Given the description of an element on the screen output the (x, y) to click on. 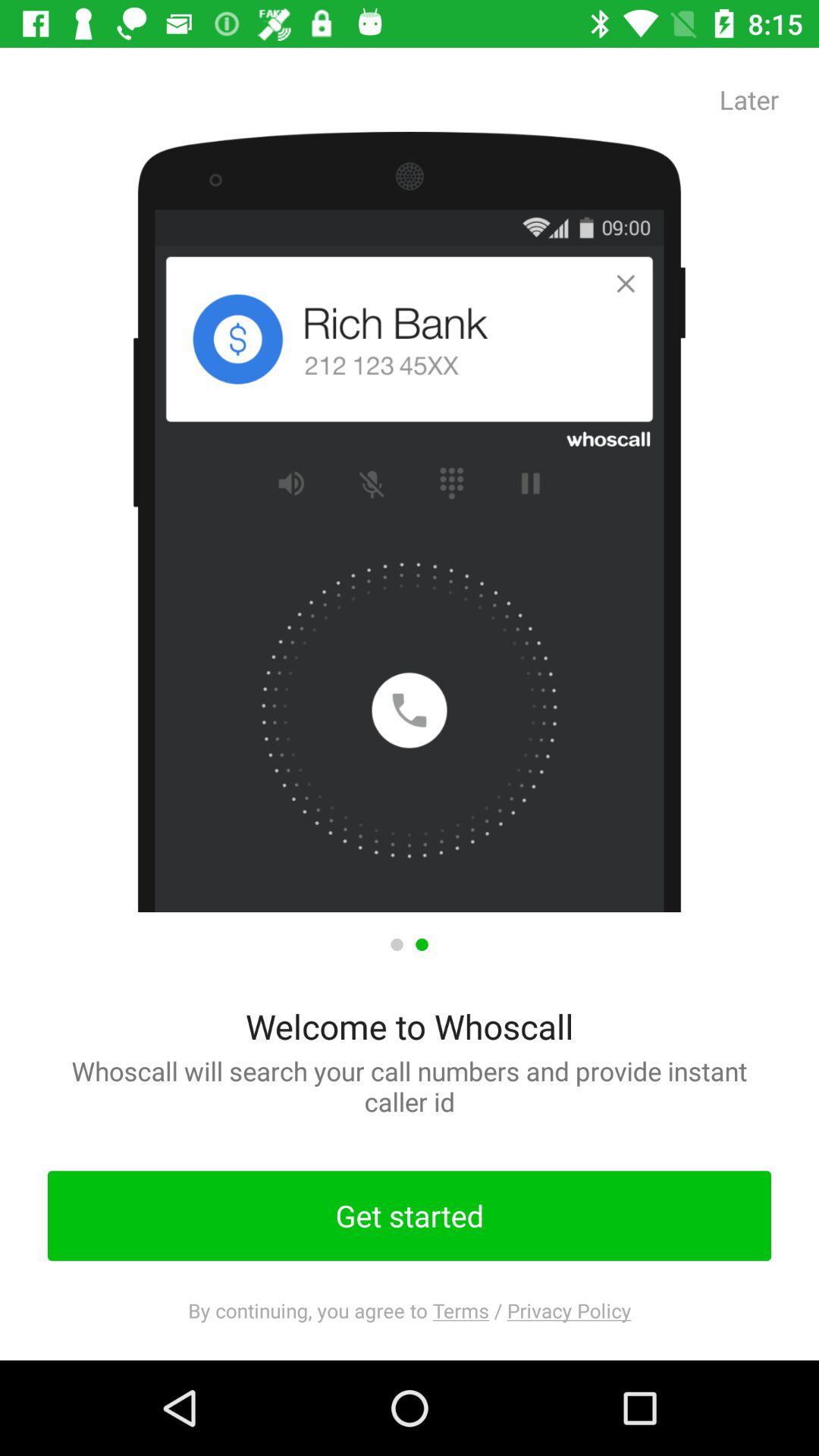
jump until by continuing you app (409, 1310)
